Given the description of an element on the screen output the (x, y) to click on. 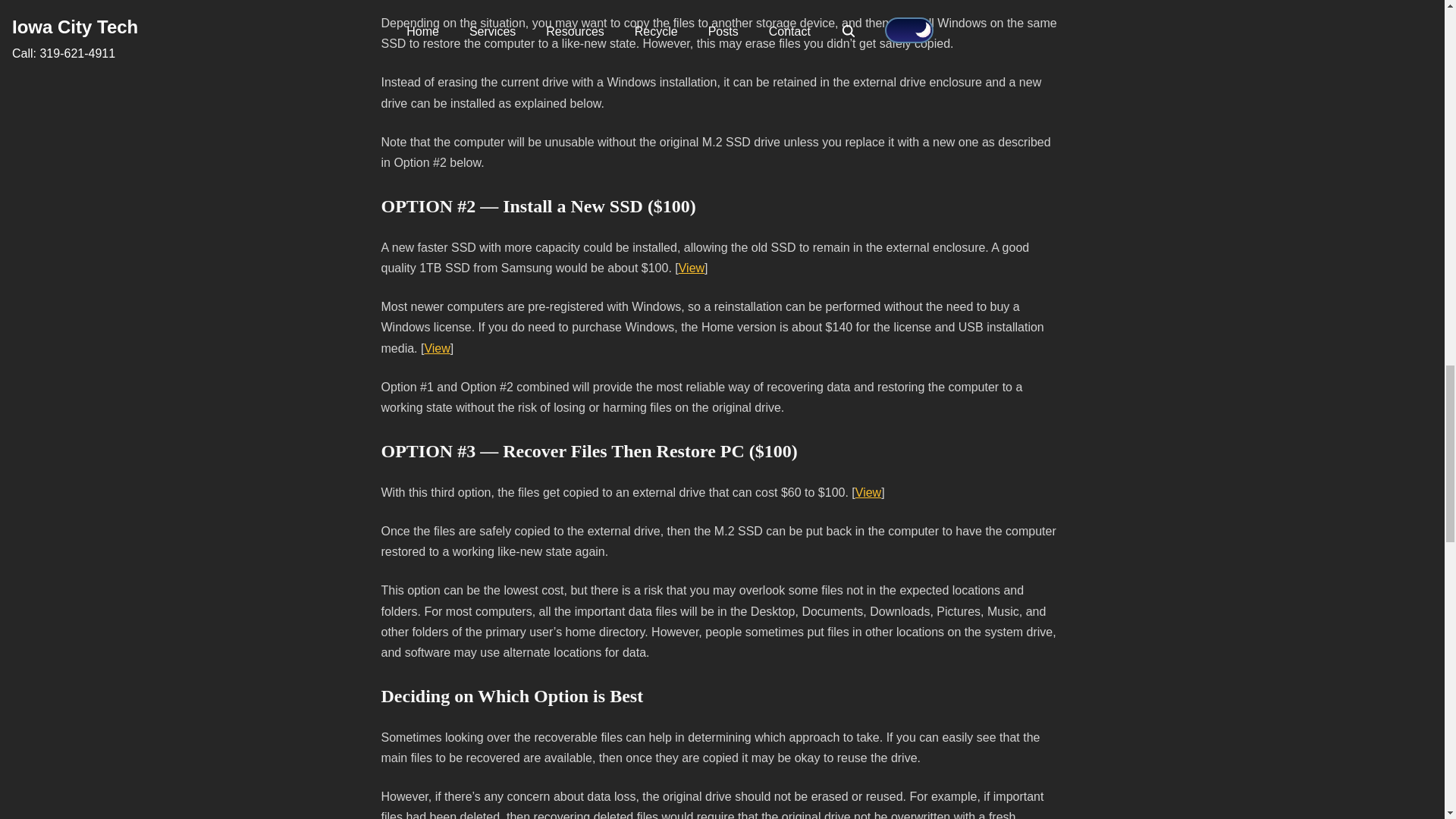
View (436, 348)
View (691, 267)
View (868, 492)
